Given the description of an element on the screen output the (x, y) to click on. 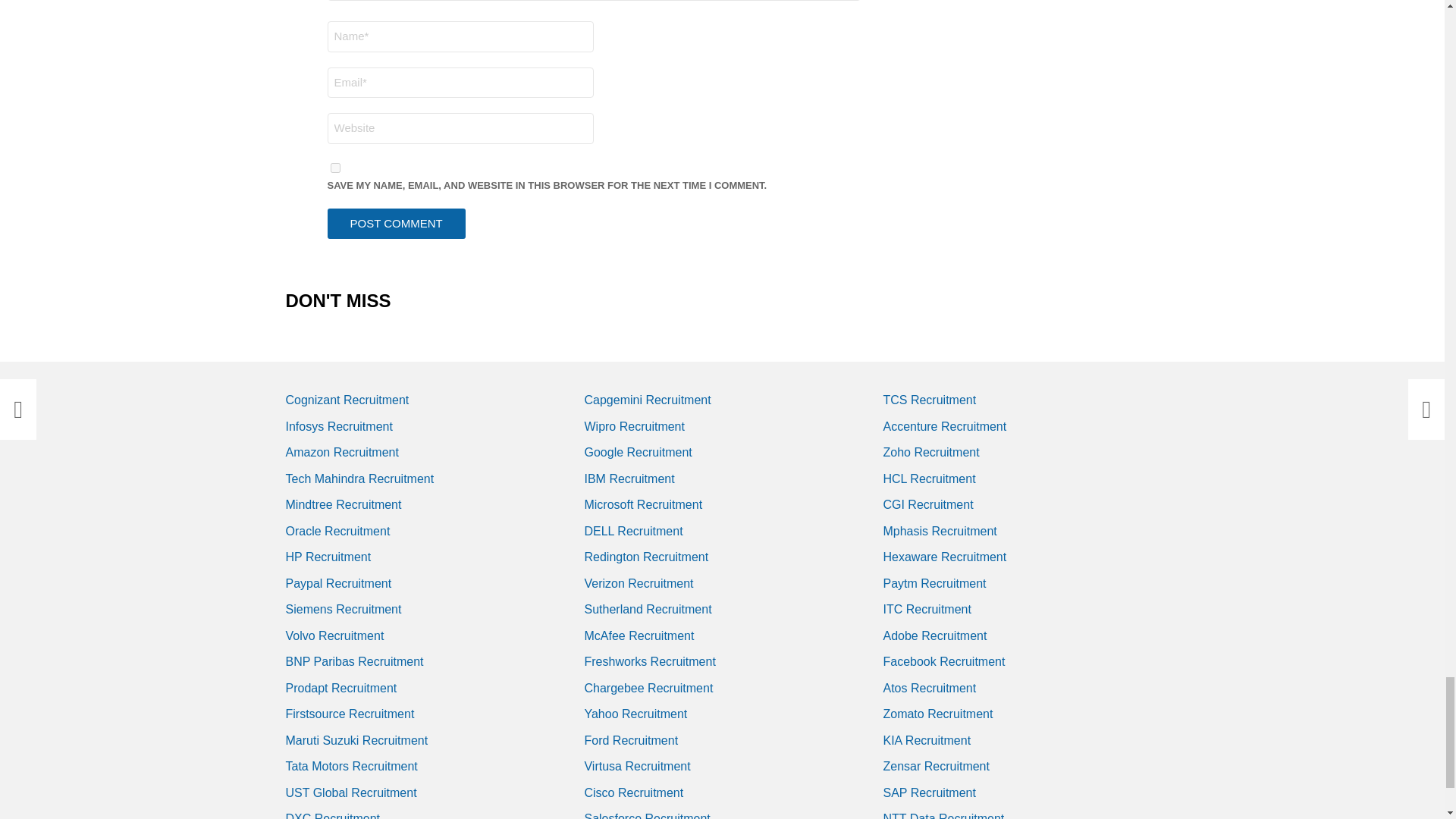
Post Comment (396, 223)
yes (335, 167)
